Given the description of an element on the screen output the (x, y) to click on. 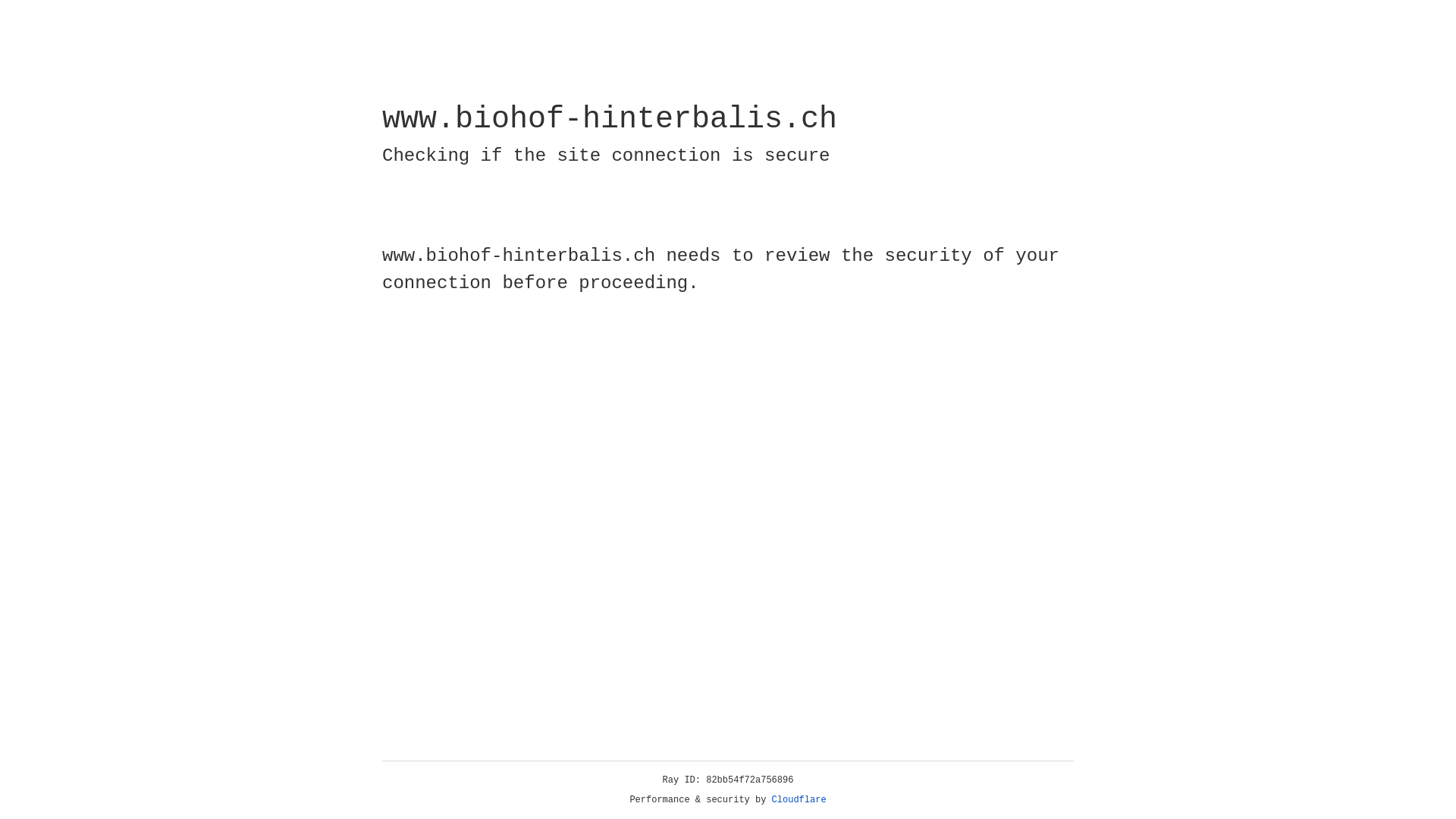
Cloudflare Element type: text (798, 799)
